Given the description of an element on the screen output the (x, y) to click on. 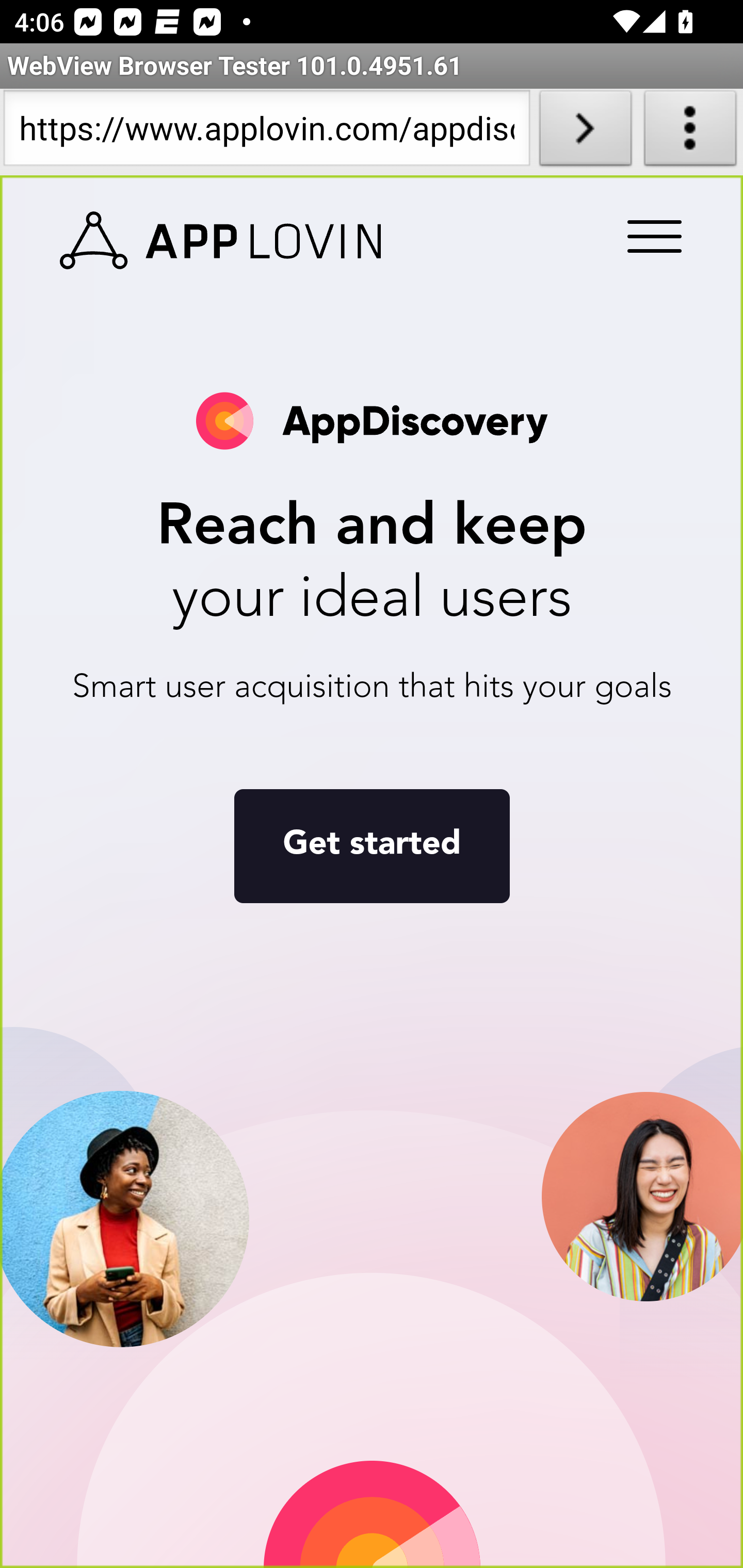
https://www.applovin.com/appdiscovery/ (266, 132)
Load URL (585, 132)
About WebView (690, 132)
Menu Trigger (650, 237)
www.applovin (220, 241)
Get started (371, 846)
